Given the description of an element on the screen output the (x, y) to click on. 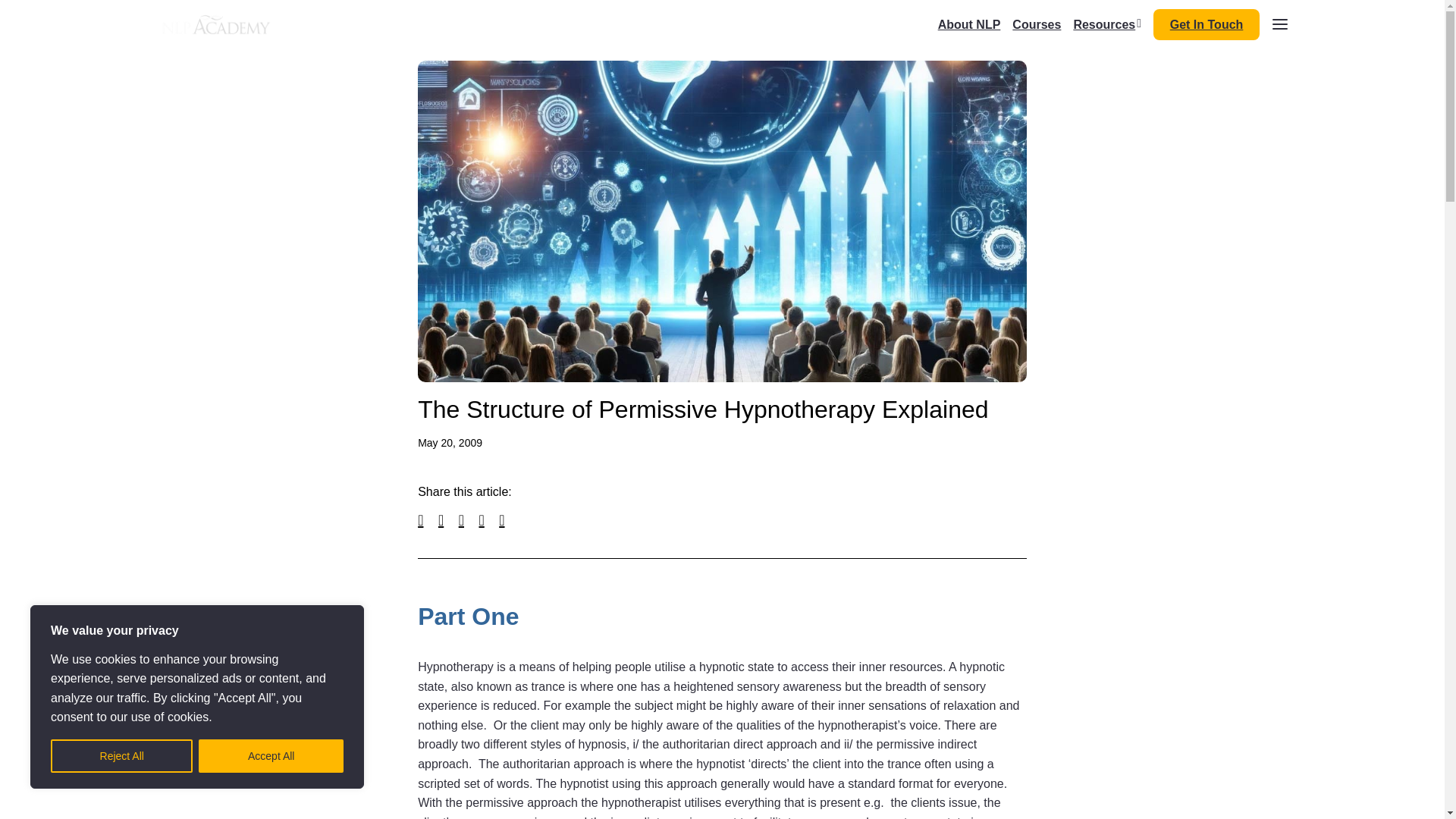
Accept All (270, 756)
Get In Touch (1206, 24)
About NLP (969, 25)
Courses (1036, 25)
Reject All (121, 756)
Resources (1107, 25)
